Given the description of an element on the screen output the (x, y) to click on. 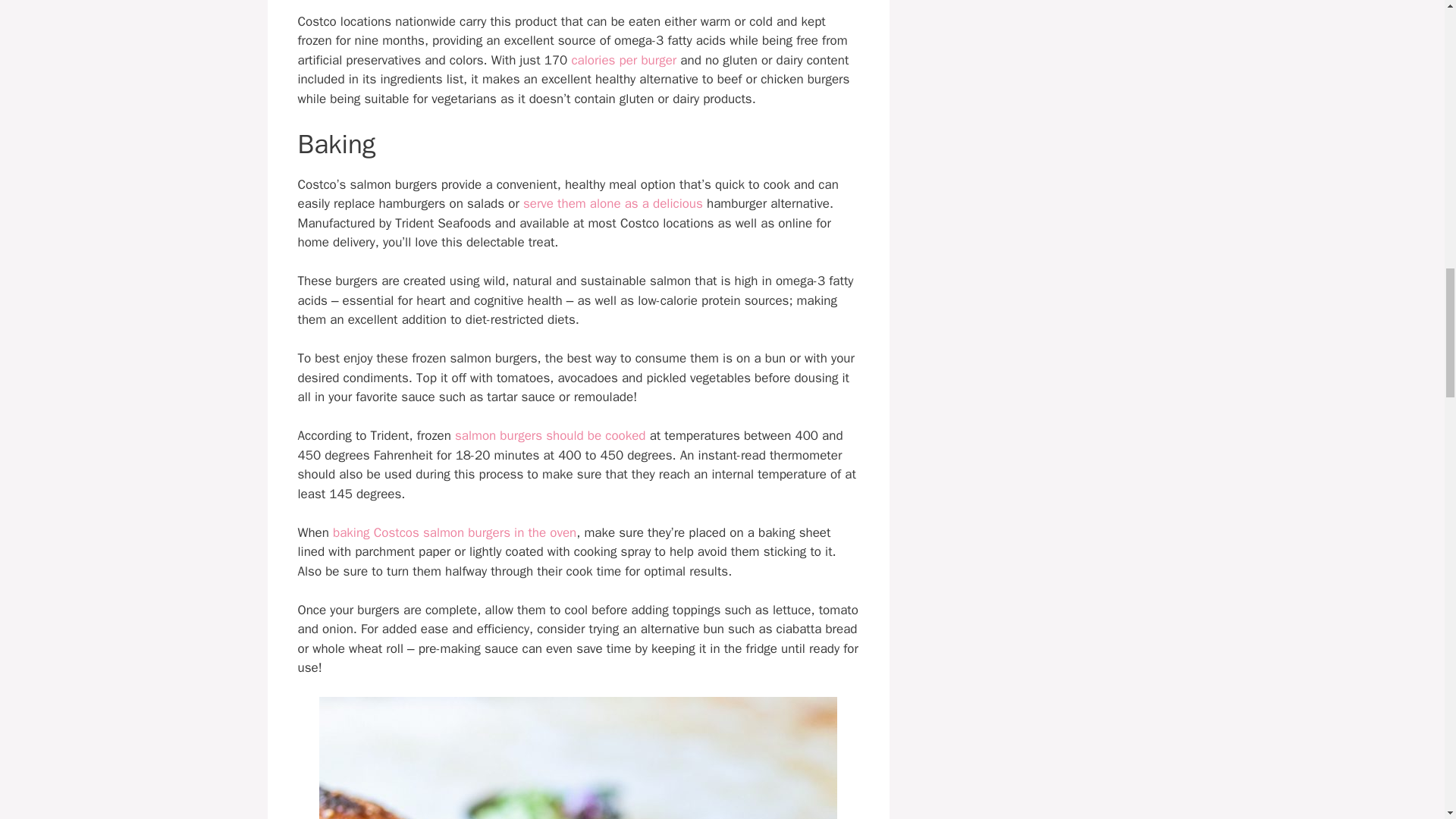
calories per burger (623, 59)
baking Costcos salmon burgers in the oven (454, 532)
salmon burgers should be cooked (550, 435)
serve them alone as a delicious (612, 203)
